Given the description of an element on the screen output the (x, y) to click on. 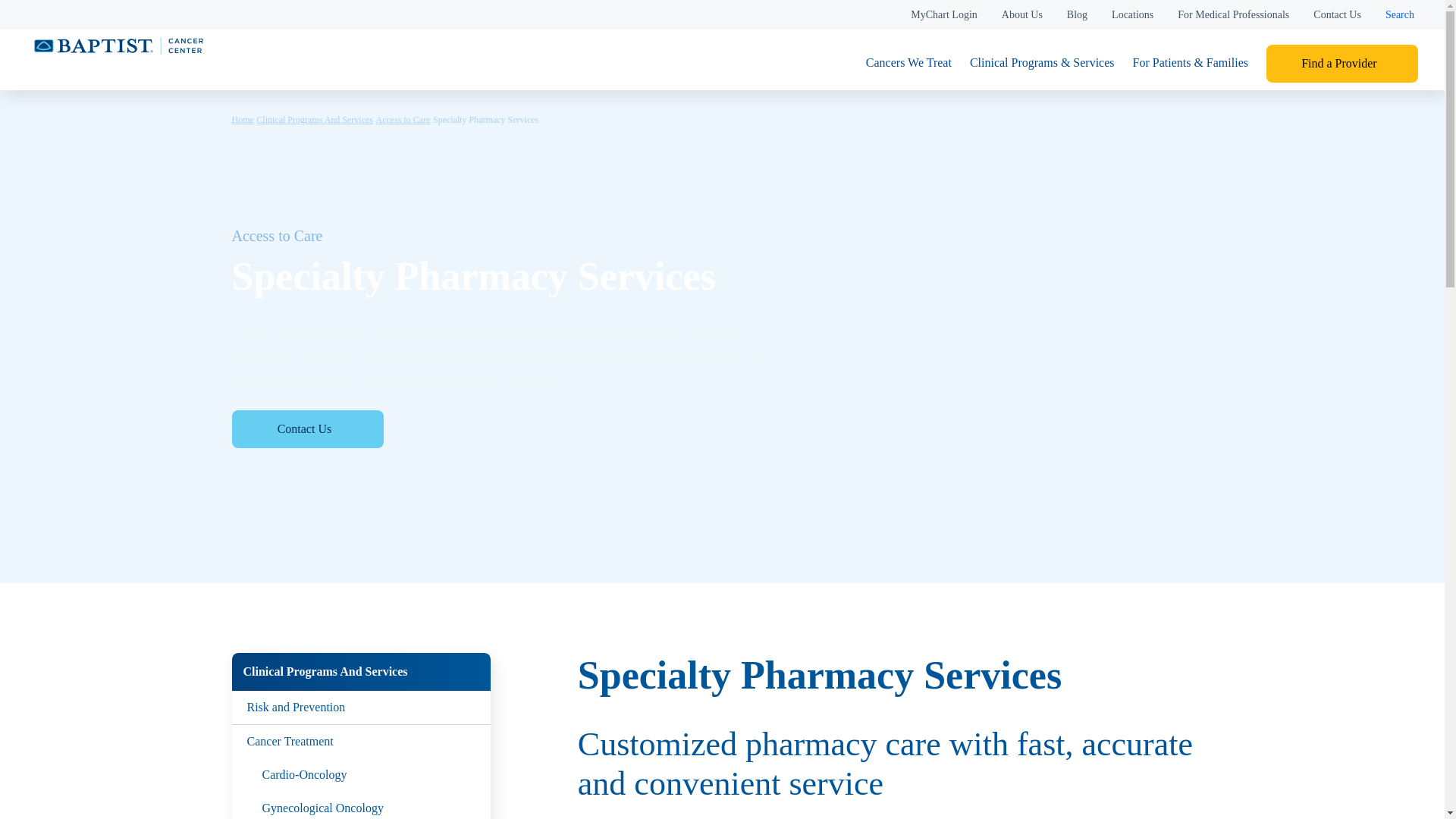
Cancers We Treat (909, 64)
Find a Provider (1342, 63)
About Us (1021, 14)
Contact Us (1337, 14)
Search (1399, 14)
MyChart Login (943, 14)
Blog (1077, 14)
For Medical Professionals (1232, 14)
Locations (1132, 14)
